Given the description of an element on the screen output the (x, y) to click on. 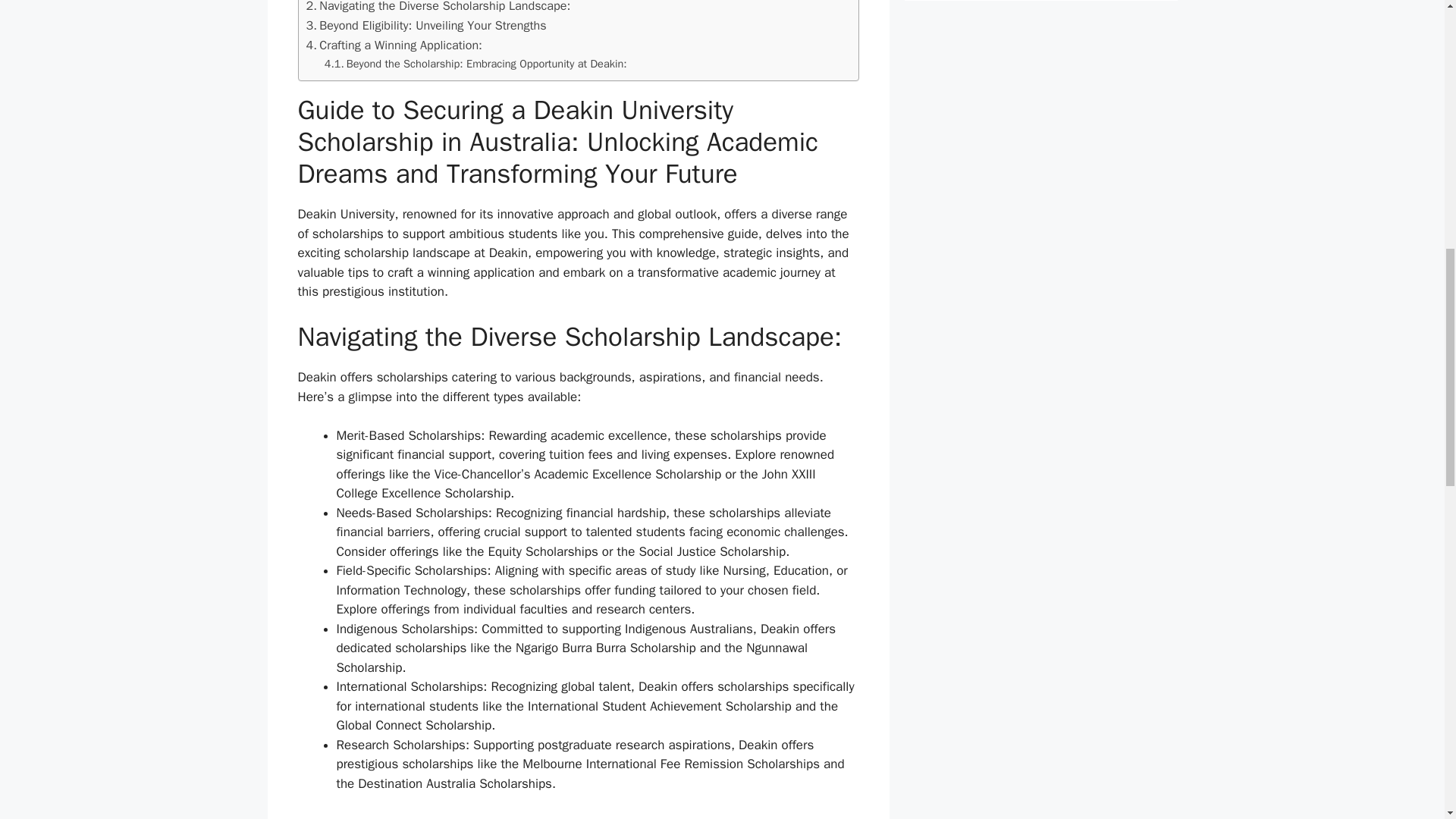
Crafting a Winning Application: (393, 45)
Navigating the Diverse Scholarship Landscape: (437, 7)
Beyond Eligibility: Unveiling Your Strengths (426, 25)
Crafting a Winning Application: (393, 45)
Beyond the Scholarship: Embracing Opportunity at Deakin: (475, 63)
Beyond Eligibility: Unveiling Your Strengths (426, 25)
Navigating the Diverse Scholarship Landscape: (437, 7)
